Given the description of an element on the screen output the (x, y) to click on. 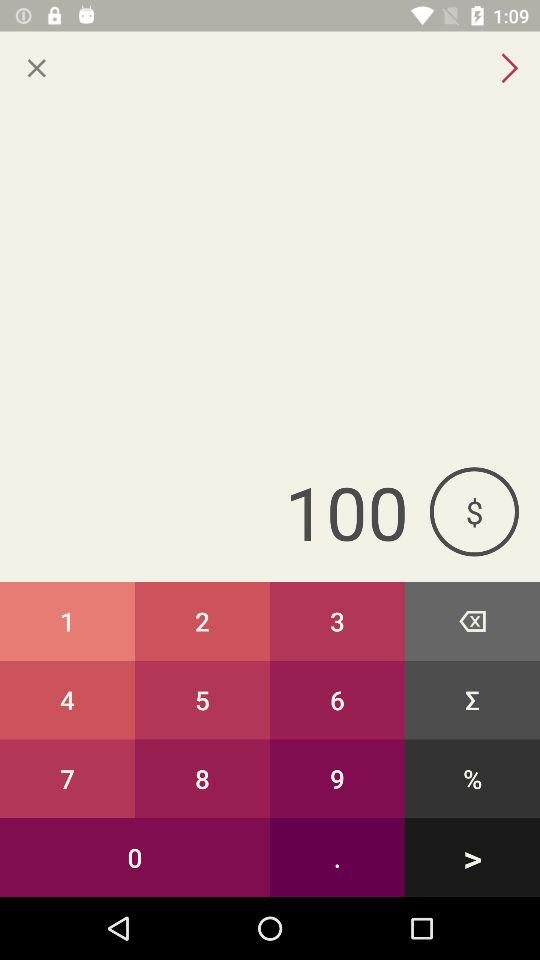
turn on % icon (472, 778)
